Given the description of an element on the screen output the (x, y) to click on. 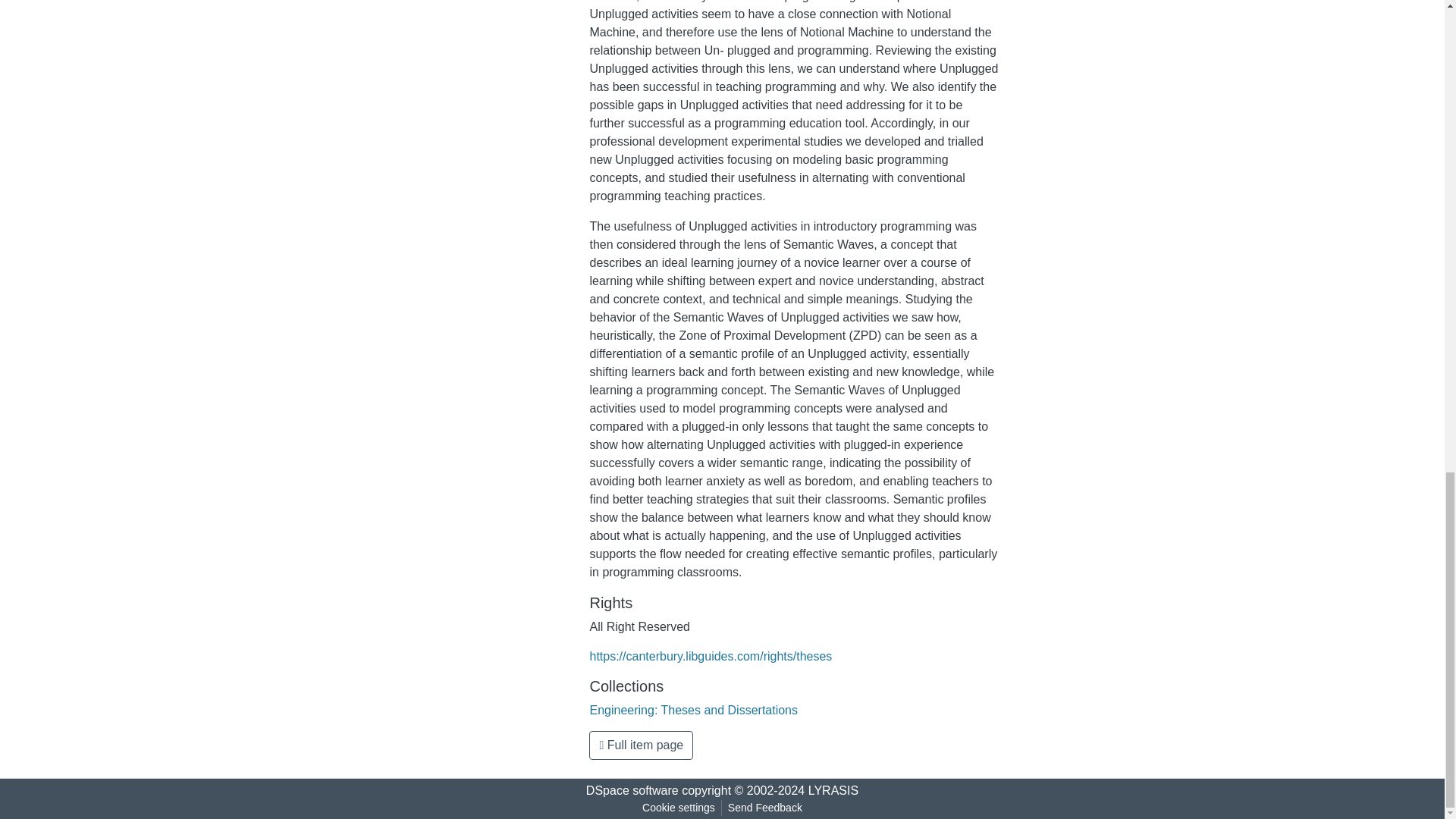
Send Feedback (765, 807)
LYRASIS (833, 789)
Cookie settings (678, 807)
Full item page (641, 745)
DSpace software (632, 789)
Engineering: Theses and Dissertations (693, 709)
